Given the description of an element on the screen output the (x, y) to click on. 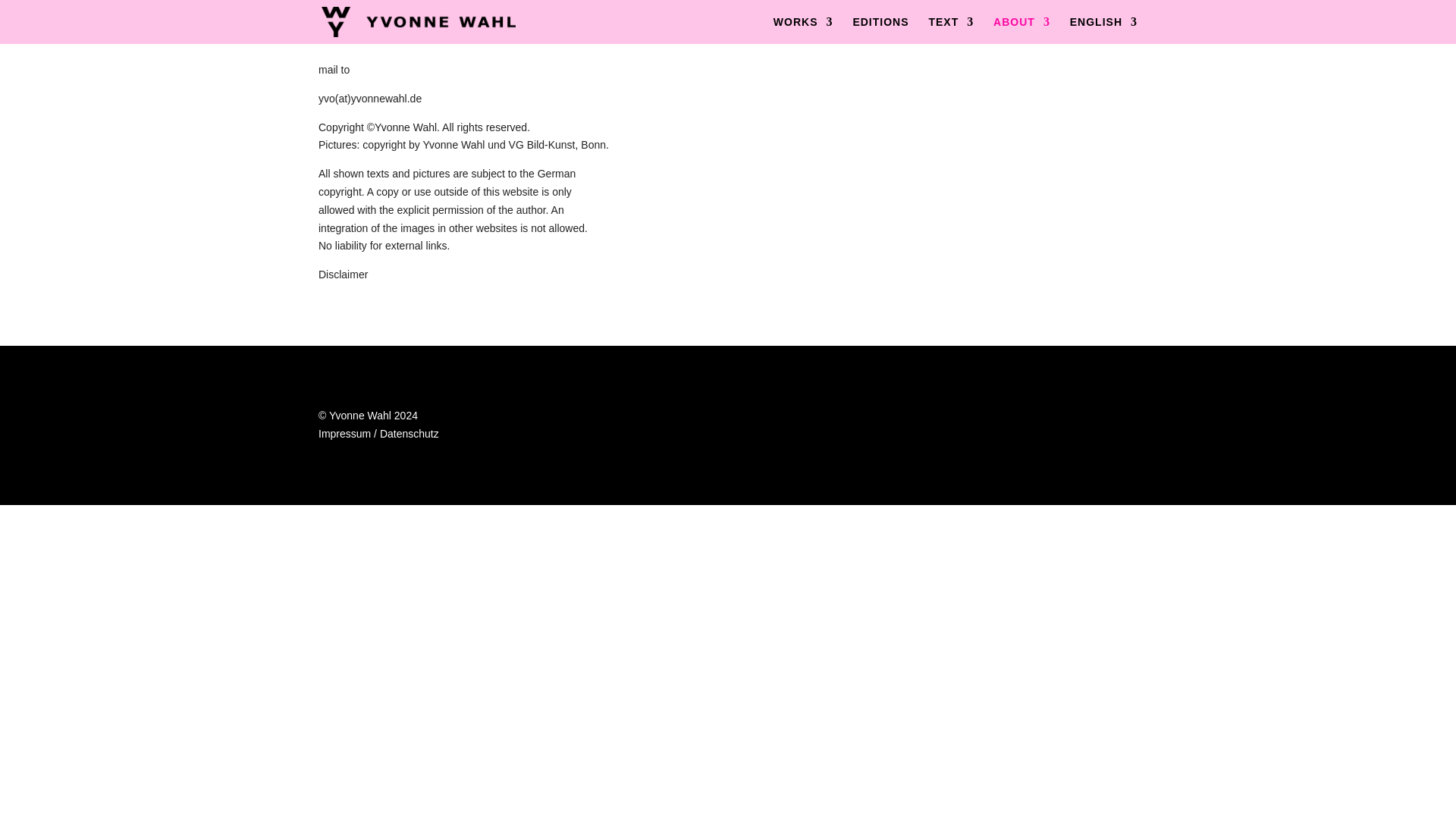
EDITIONS (879, 30)
WORKS (802, 30)
English (1103, 30)
ABOUT (1020, 30)
ENGLISH (1103, 30)
TEXT (951, 30)
